Given the description of an element on the screen output the (x, y) to click on. 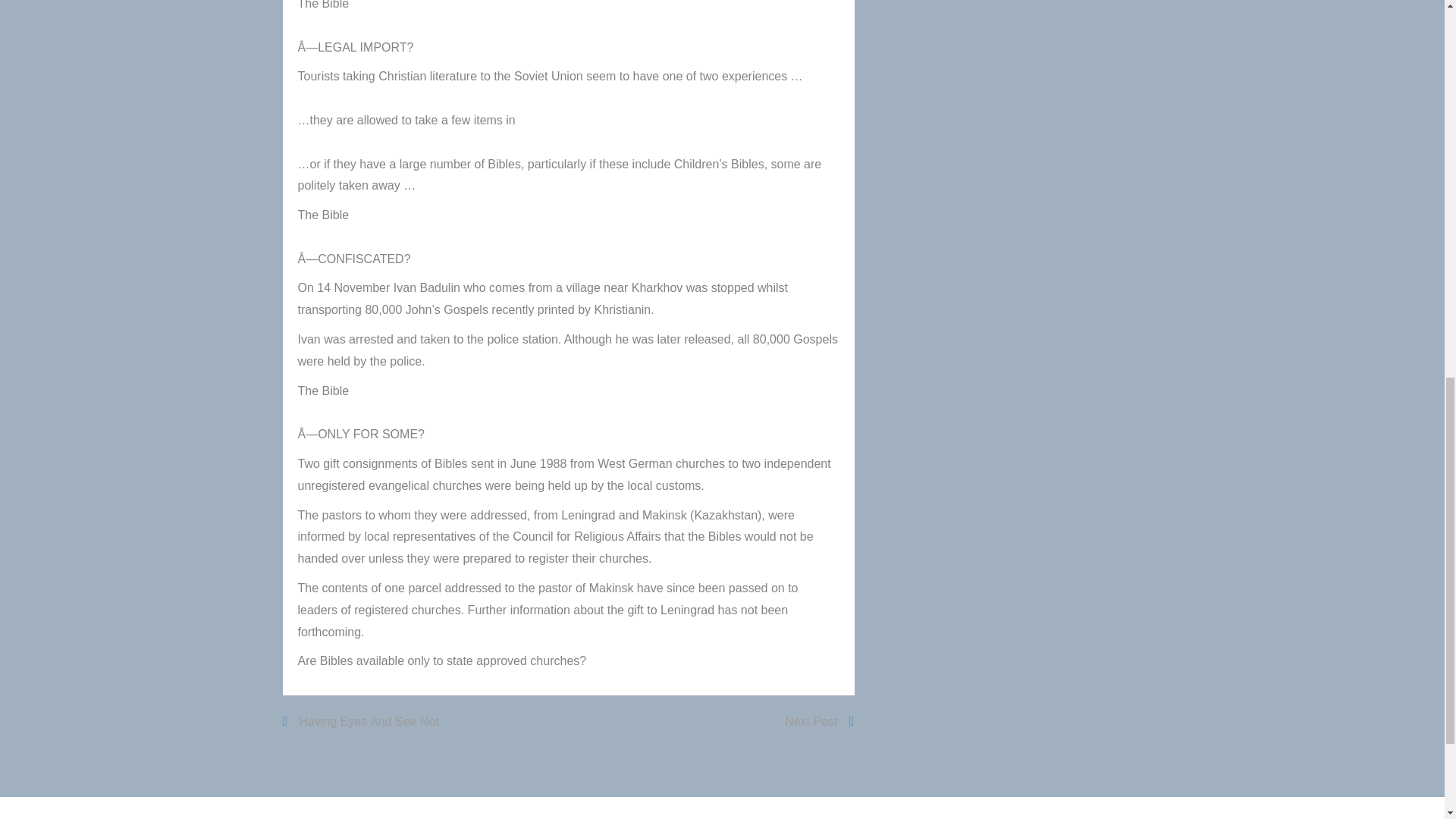
Next Post (817, 721)
Having Eyes And See Not (360, 721)
